Given the description of an element on the screen output the (x, y) to click on. 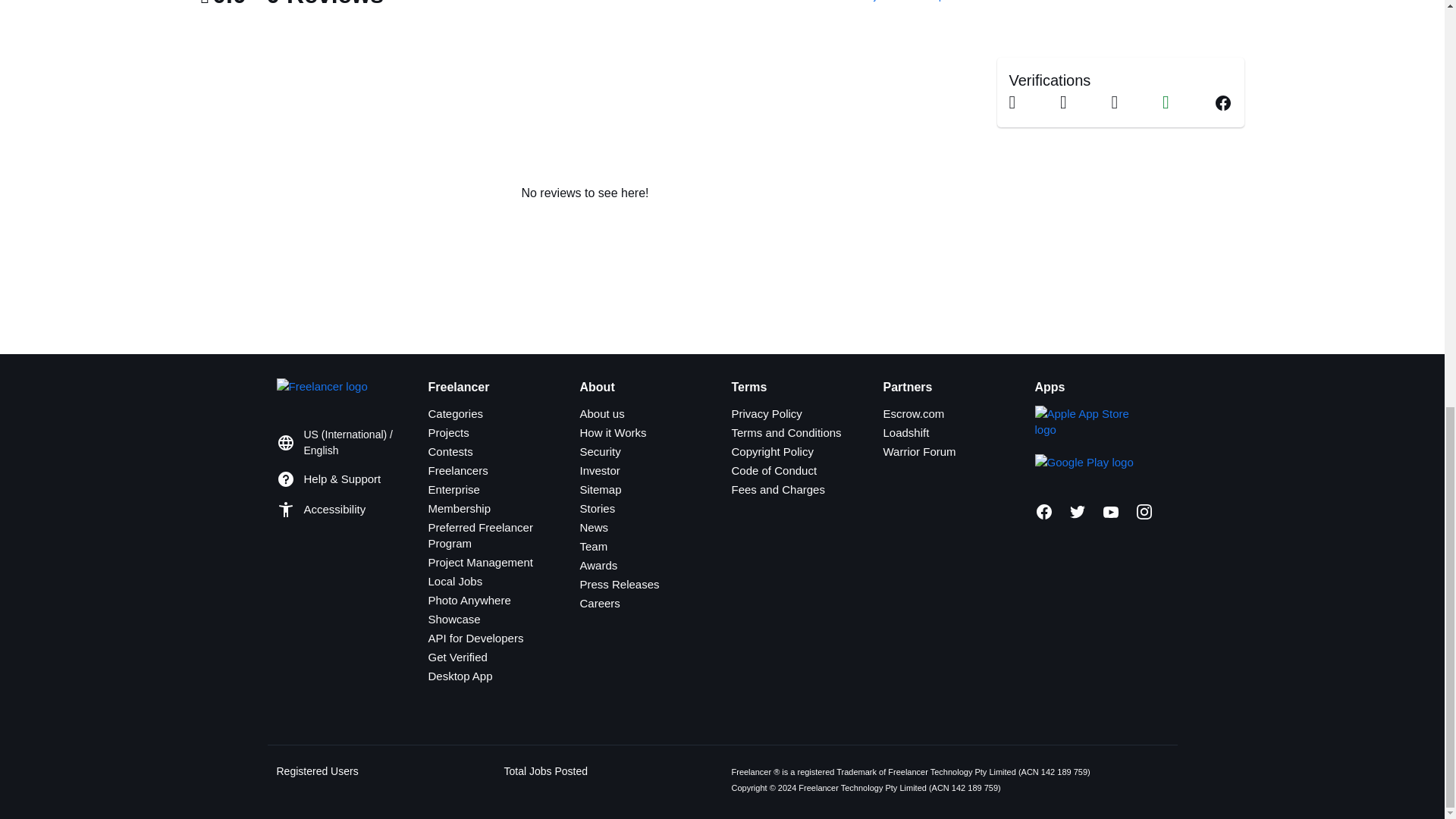
Membership (459, 508)
Instagram (1143, 511)
Freelancers (457, 470)
Showcase (454, 618)
Contests (449, 451)
Accessibility (333, 508)
Twitter (1076, 511)
Local Jobs (454, 581)
Project Management (480, 562)
Enterprise (453, 489)
View jdotess's full profile (907, 0)
Categories (455, 413)
Projects (448, 431)
Preferred Freelancer Program (480, 534)
Photo Anywhere (469, 599)
